Given the description of an element on the screen output the (x, y) to click on. 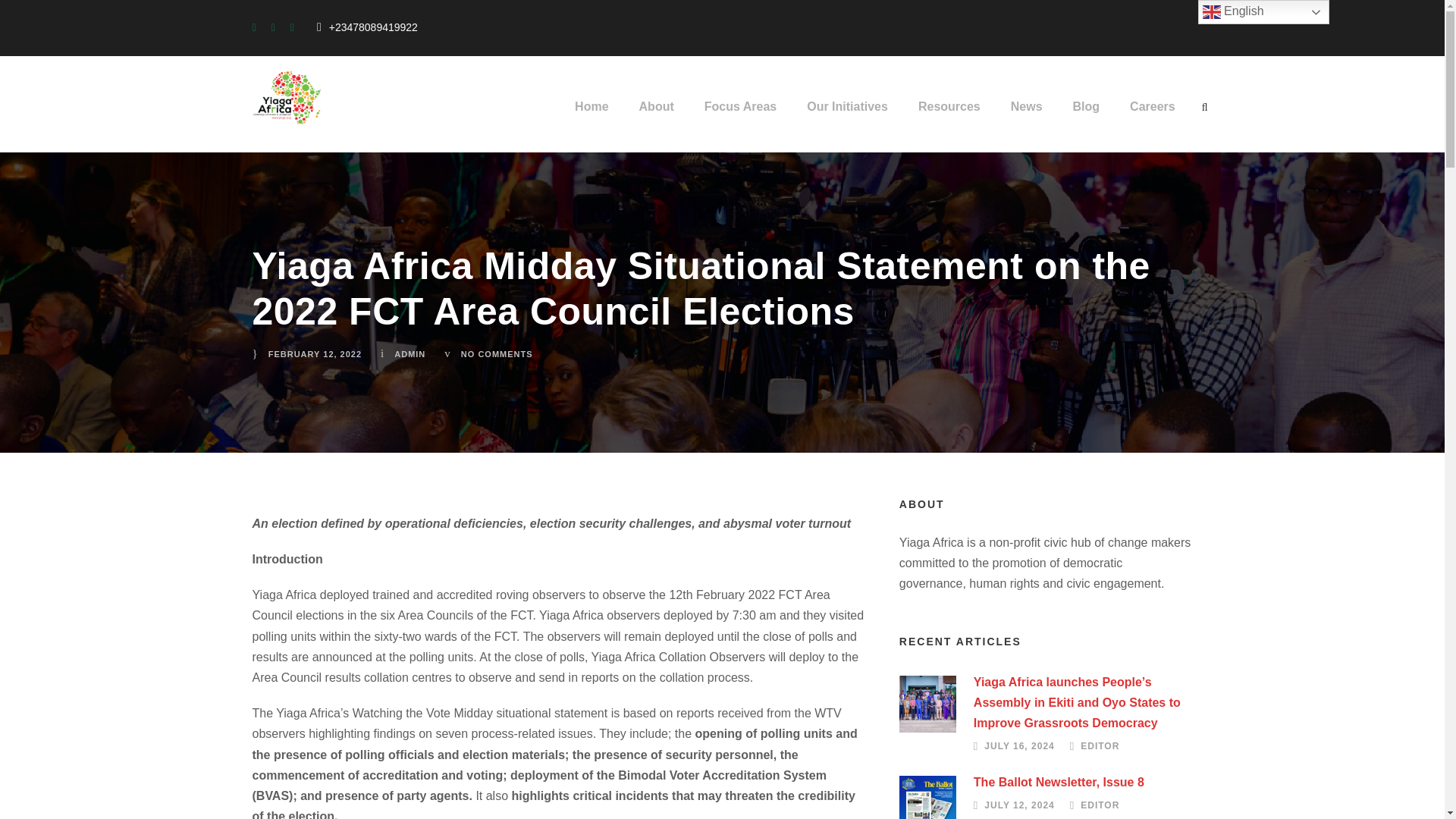
Home (591, 113)
About (656, 113)
Posts by admin (409, 353)
Focus Areas (740, 113)
